Given the description of an element on the screen output the (x, y) to click on. 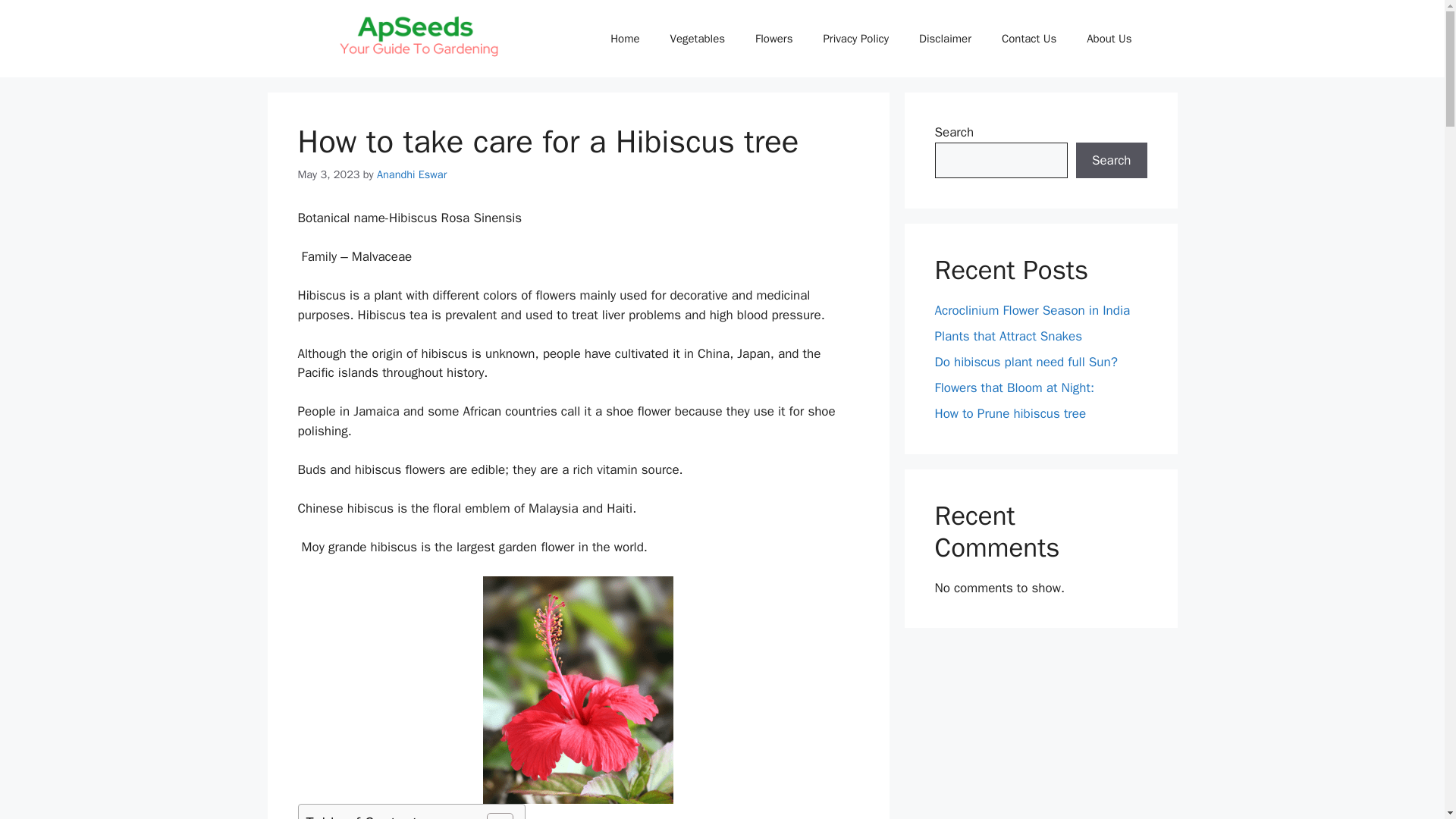
Contact Us (1029, 38)
Home (624, 38)
About Us (1109, 38)
Search (1111, 160)
How to Prune hibiscus tree (1010, 413)
View all posts by Anandhi Eswar (411, 173)
Vegetables (698, 38)
Disclaimer (945, 38)
Flowers (773, 38)
Flowers that Bloom at Night: (1014, 387)
Anandhi Eswar (411, 173)
Acroclinium Flower Season in India (1031, 310)
Plants that Attract Snakes (1007, 335)
Privacy Policy (856, 38)
Do hibiscus plant need full Sun? (1025, 361)
